Given the description of an element on the screen output the (x, y) to click on. 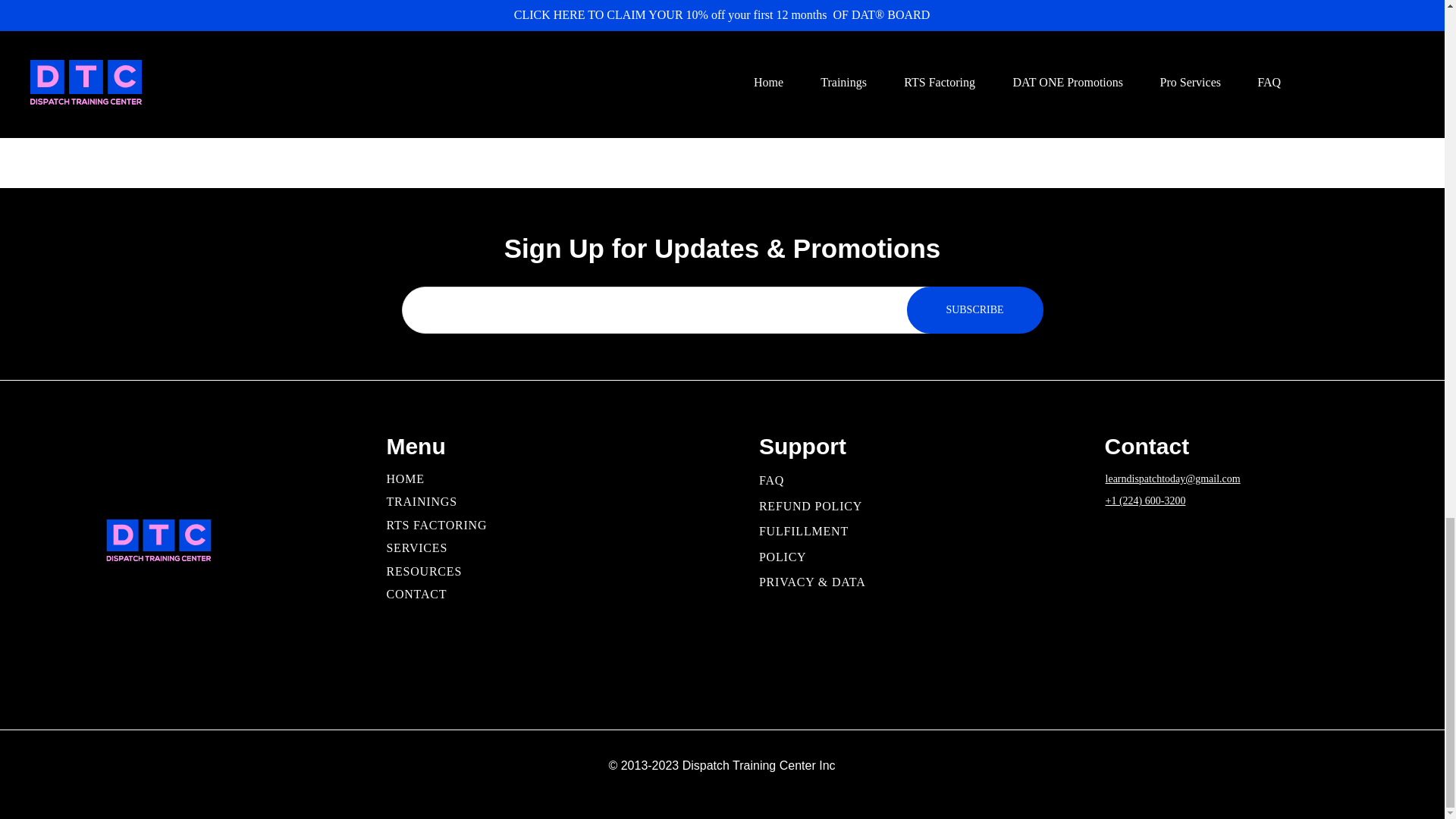
RESOURCES (423, 571)
RTS FACTORING (435, 524)
HOME (404, 478)
REFUND POLICY (809, 505)
TRAININGS (421, 501)
CONTACT (415, 594)
FAQ (771, 480)
FULFILLMENT POLICY (803, 543)
SERVICES (415, 547)
Checkout (914, 1)
SUBSCRIBE (975, 309)
